Given the description of an element on the screen output the (x, y) to click on. 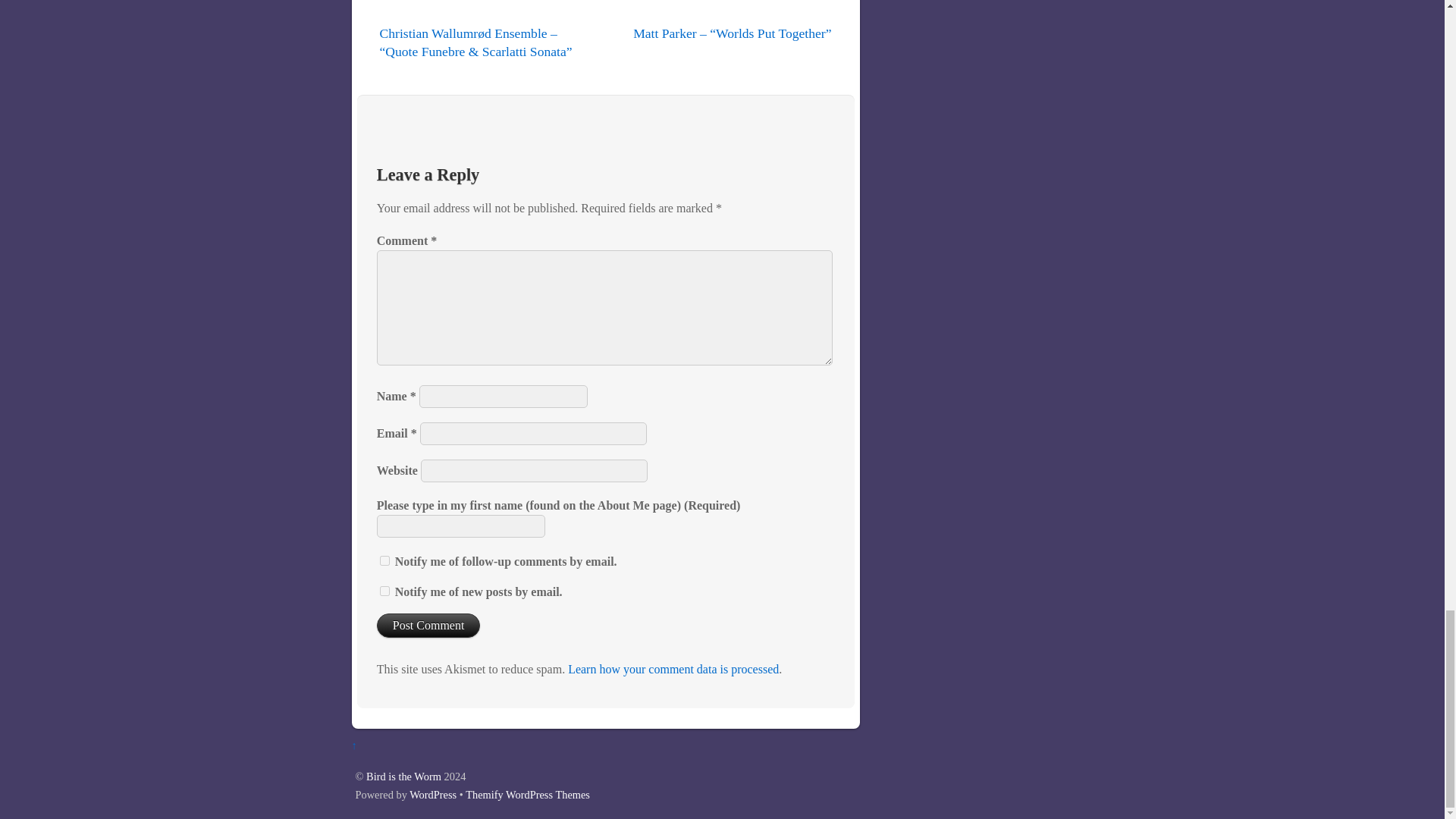
Post Comment (428, 625)
subscribe (385, 591)
subscribe (385, 560)
